Given the description of an element on the screen output the (x, y) to click on. 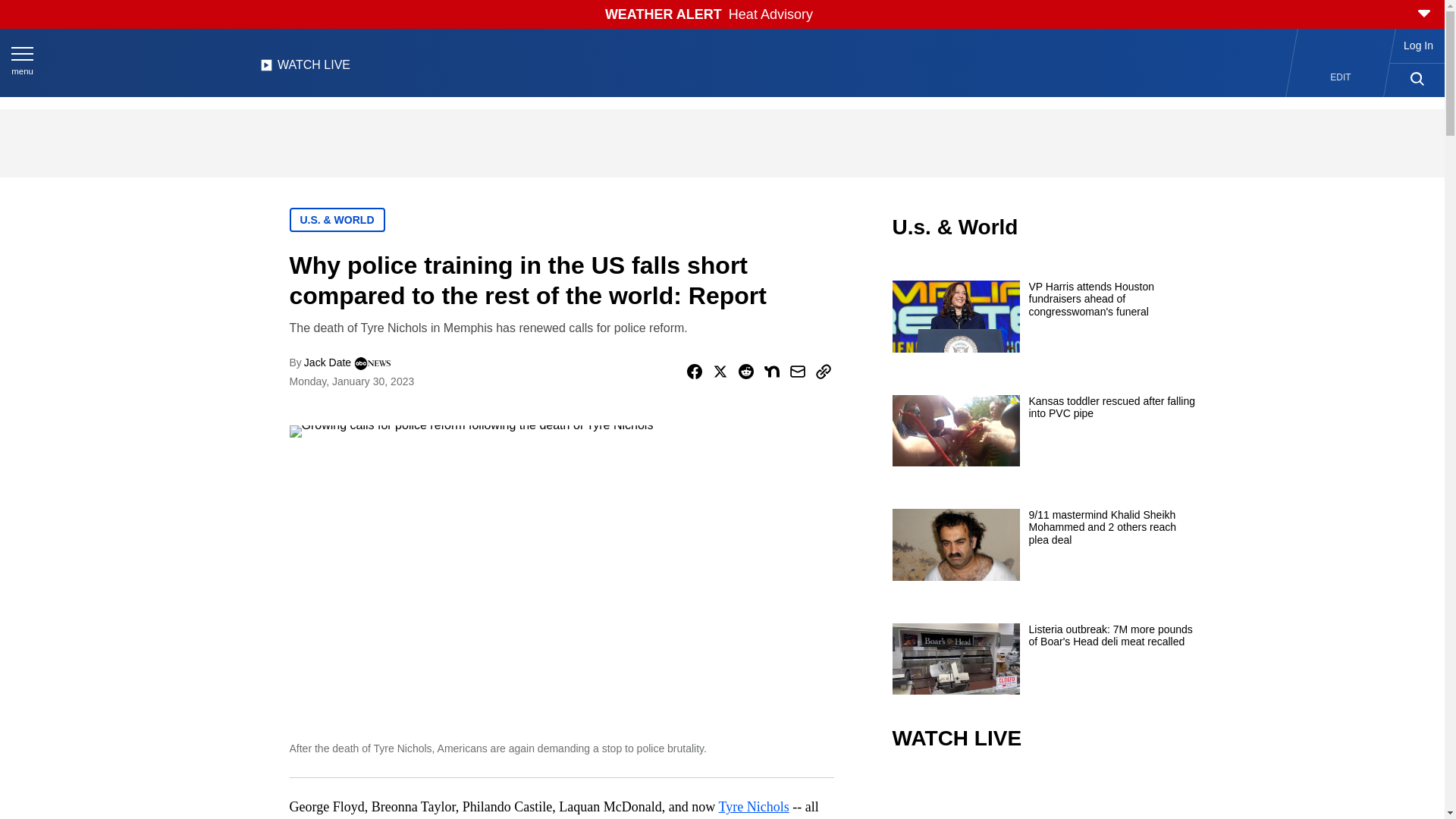
video.title (1043, 796)
WATCH LIVE (305, 69)
EDIT (1340, 77)
